Given the description of an element on the screen output the (x, y) to click on. 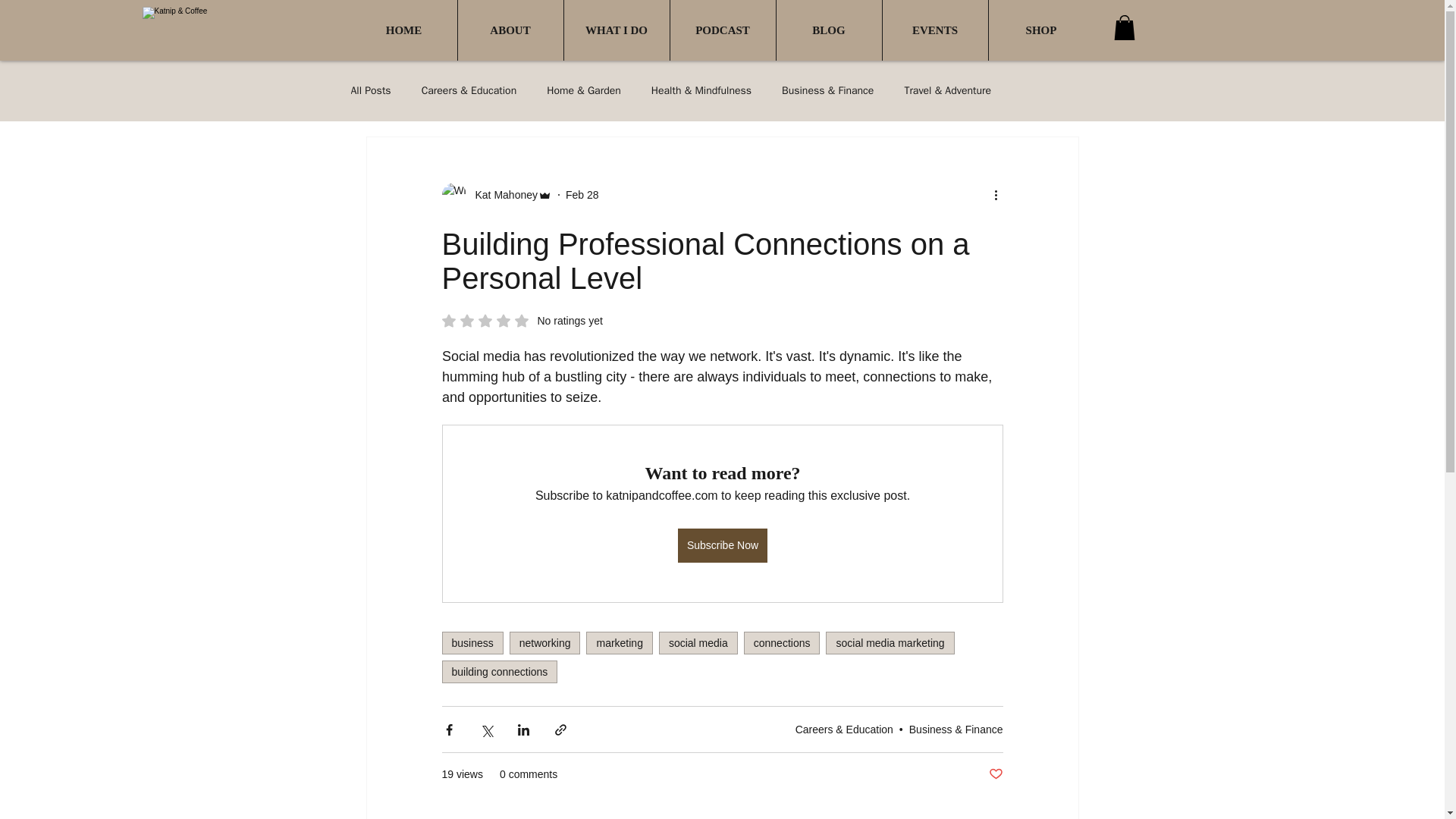
BLOG (521, 320)
marketing (829, 30)
EVENTS (619, 642)
HOME (935, 30)
Subscribe Now (403, 30)
business (722, 545)
networking (471, 642)
social media marketing (544, 642)
building connections (889, 642)
All Posts (499, 671)
Post not marked as liked (370, 90)
connections (995, 774)
Kat Mahoney (782, 642)
social media (501, 195)
